Given the description of an element on the screen output the (x, y) to click on. 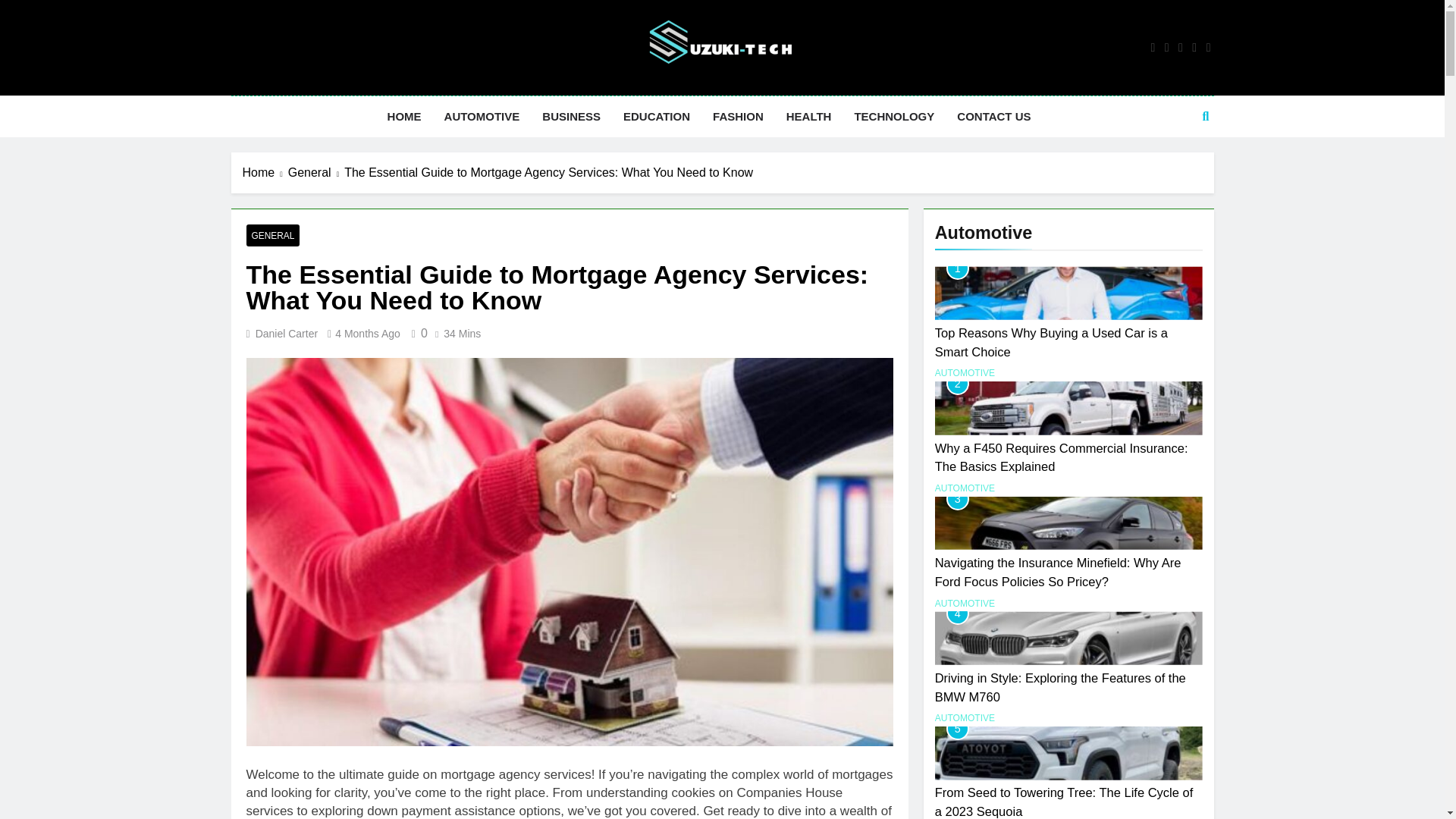
Home (265, 172)
0 (417, 332)
Daniel Carter (286, 333)
EDUCATION (656, 116)
FASHION (737, 116)
GENERAL (272, 235)
Top Reasons Why Buying a Used Car is a Smart Choice (1050, 341)
AUTOMOTIVE (964, 488)
Suzuki-Tech (570, 107)
General (315, 172)
HOME (403, 116)
AUTOMOTIVE (481, 116)
4 Months Ago (367, 333)
